Given the description of an element on the screen output the (x, y) to click on. 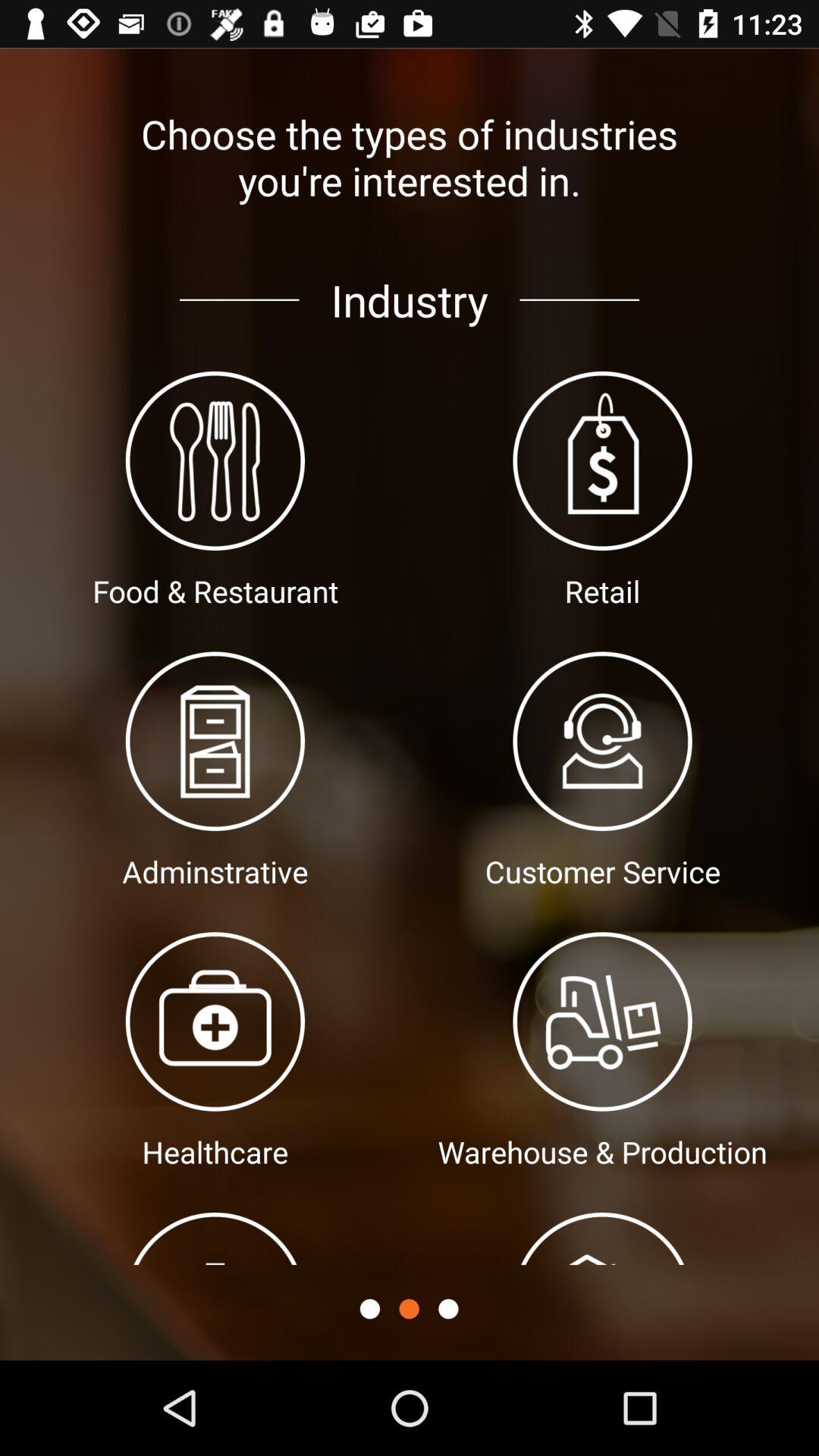
press icon below the warehouse & production item (448, 1308)
